Given the description of an element on the screen output the (x, y) to click on. 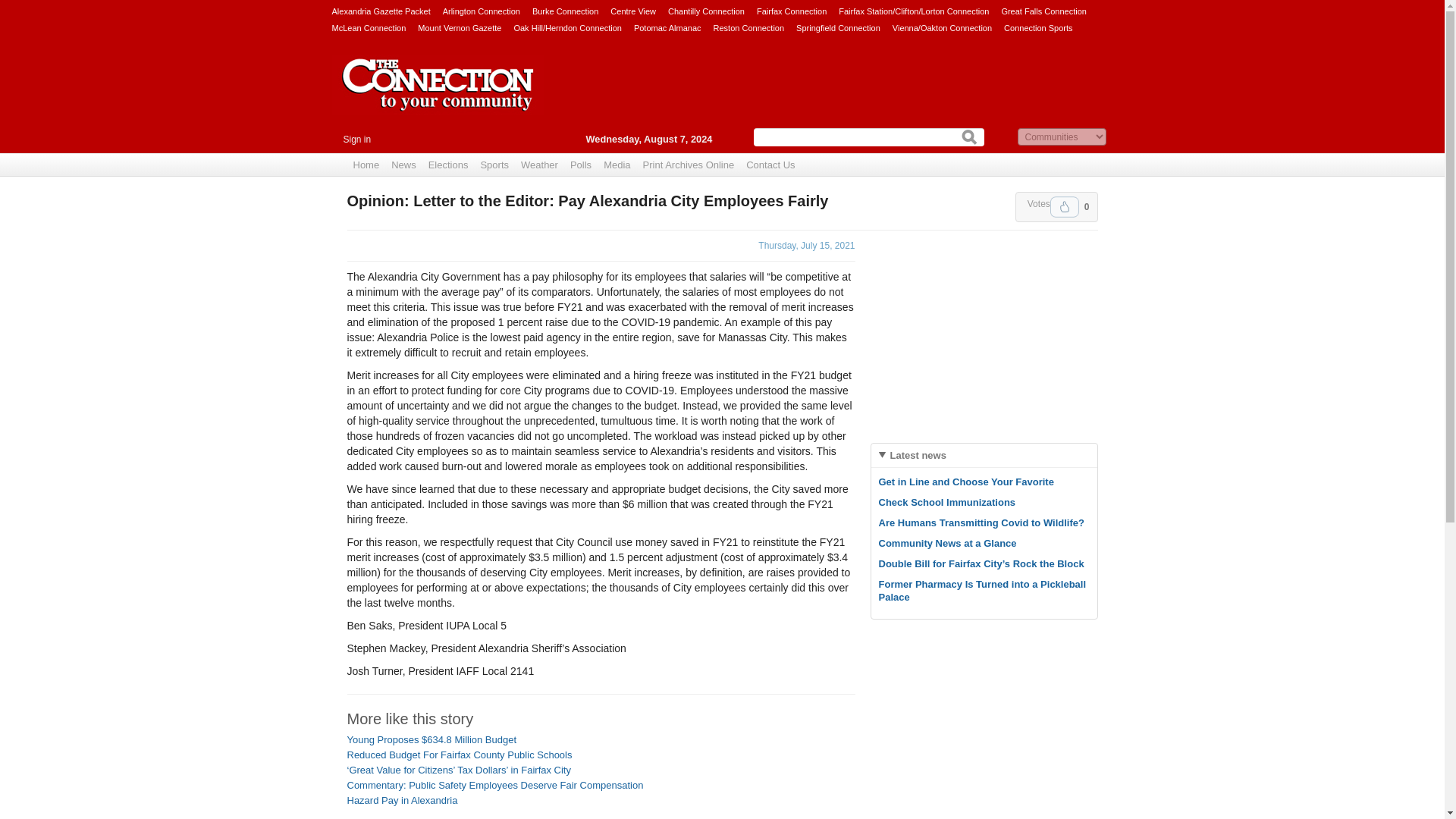
Centre View (633, 11)
Springfield Connection (838, 27)
Alexandria Gazette Packet (380, 11)
Chantilly Connection (706, 11)
Mount Vernon Gazette (458, 27)
Sign in (356, 139)
The Connection (437, 96)
Great Falls Connection (1043, 11)
Arlington Connection (480, 11)
Connection Sports (1038, 27)
